Given the description of an element on the screen output the (x, y) to click on. 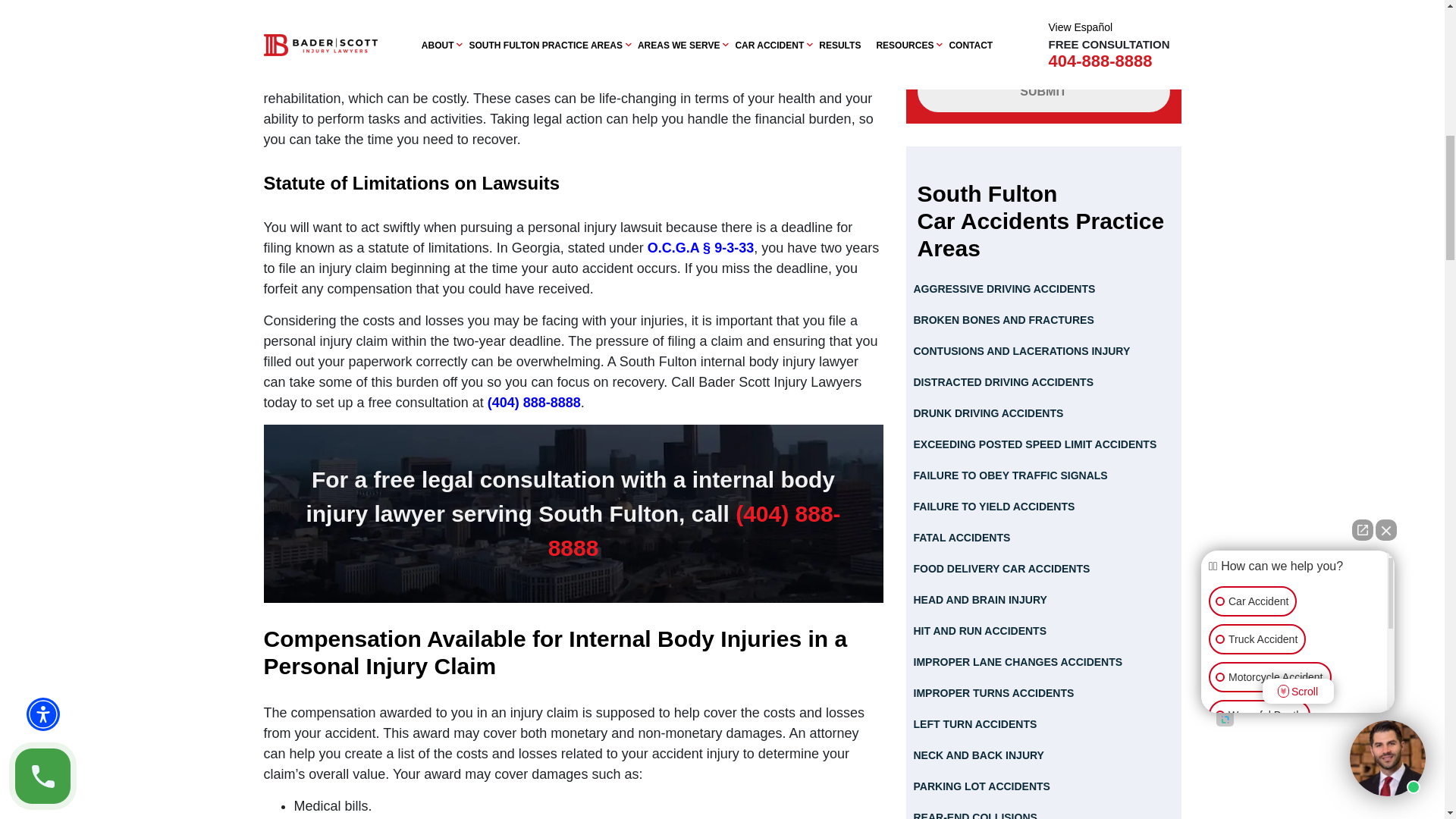
Submit (1043, 91)
